Given the description of an element on the screen output the (x, y) to click on. 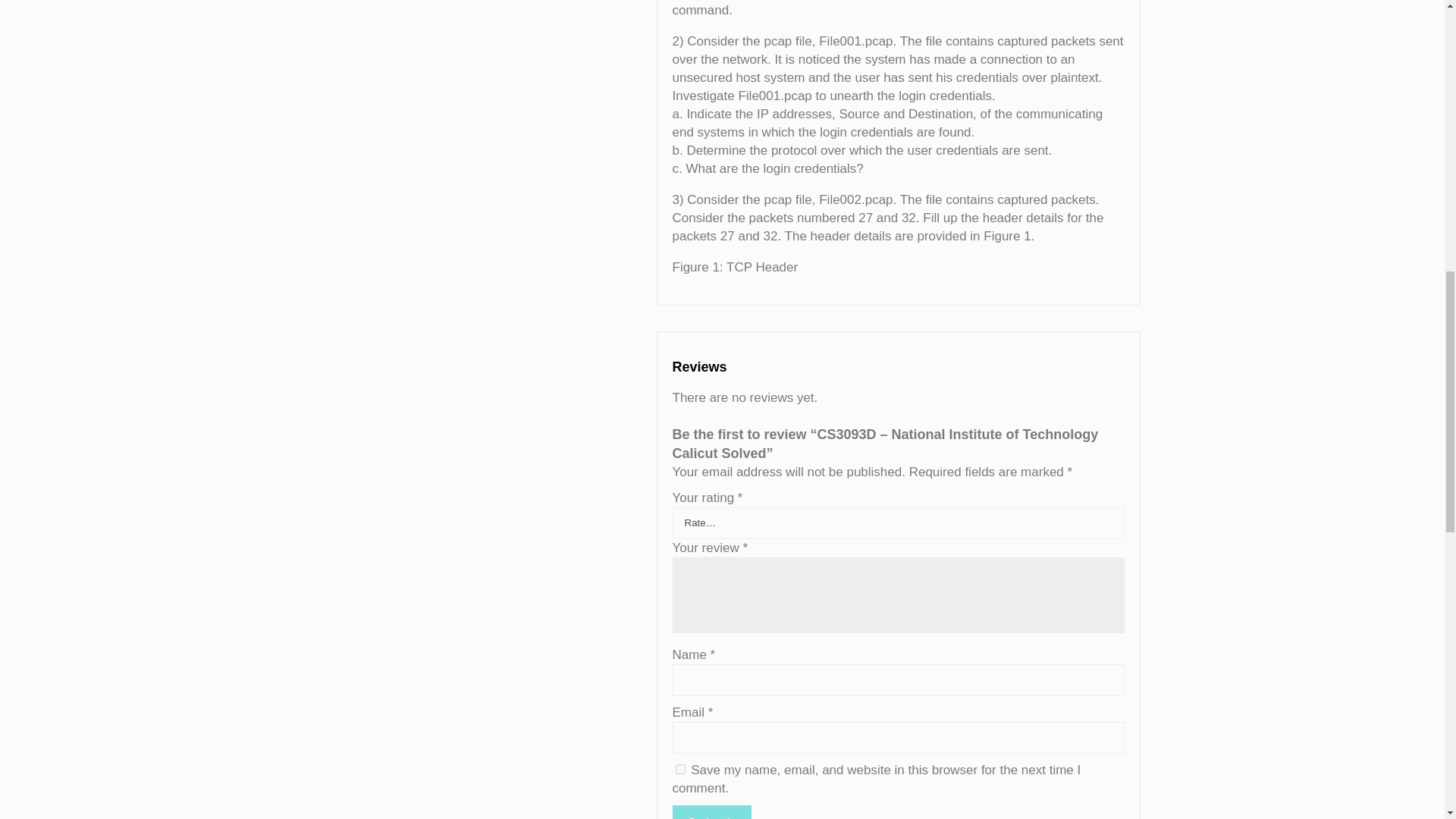
Submit (711, 812)
yes (679, 768)
Submit (711, 812)
